Given the description of an element on the screen output the (x, y) to click on. 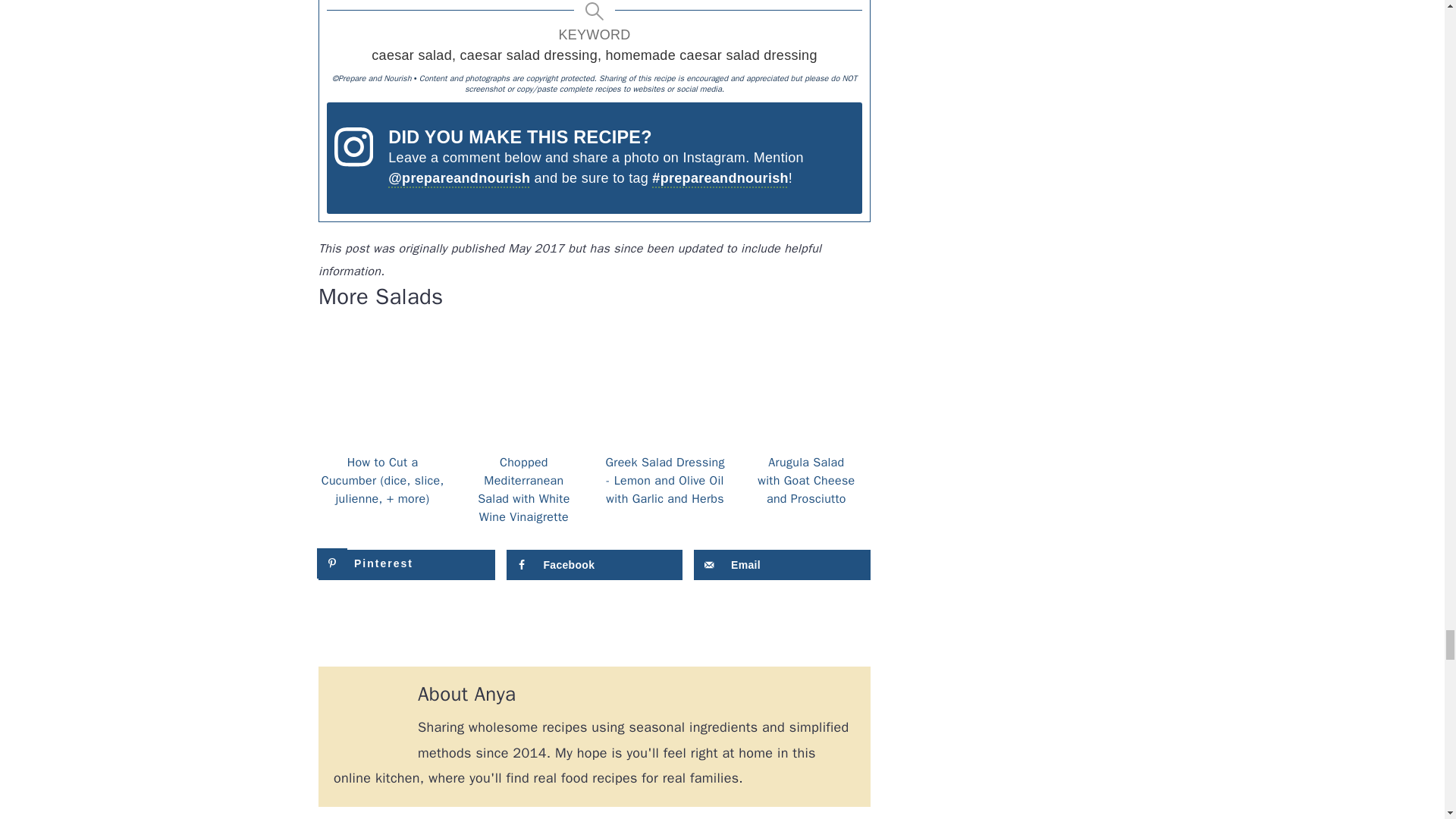
Save to Pinterest (406, 564)
Share on Facebook (594, 564)
Send over email (782, 564)
